Given the description of an element on the screen output the (x, y) to click on. 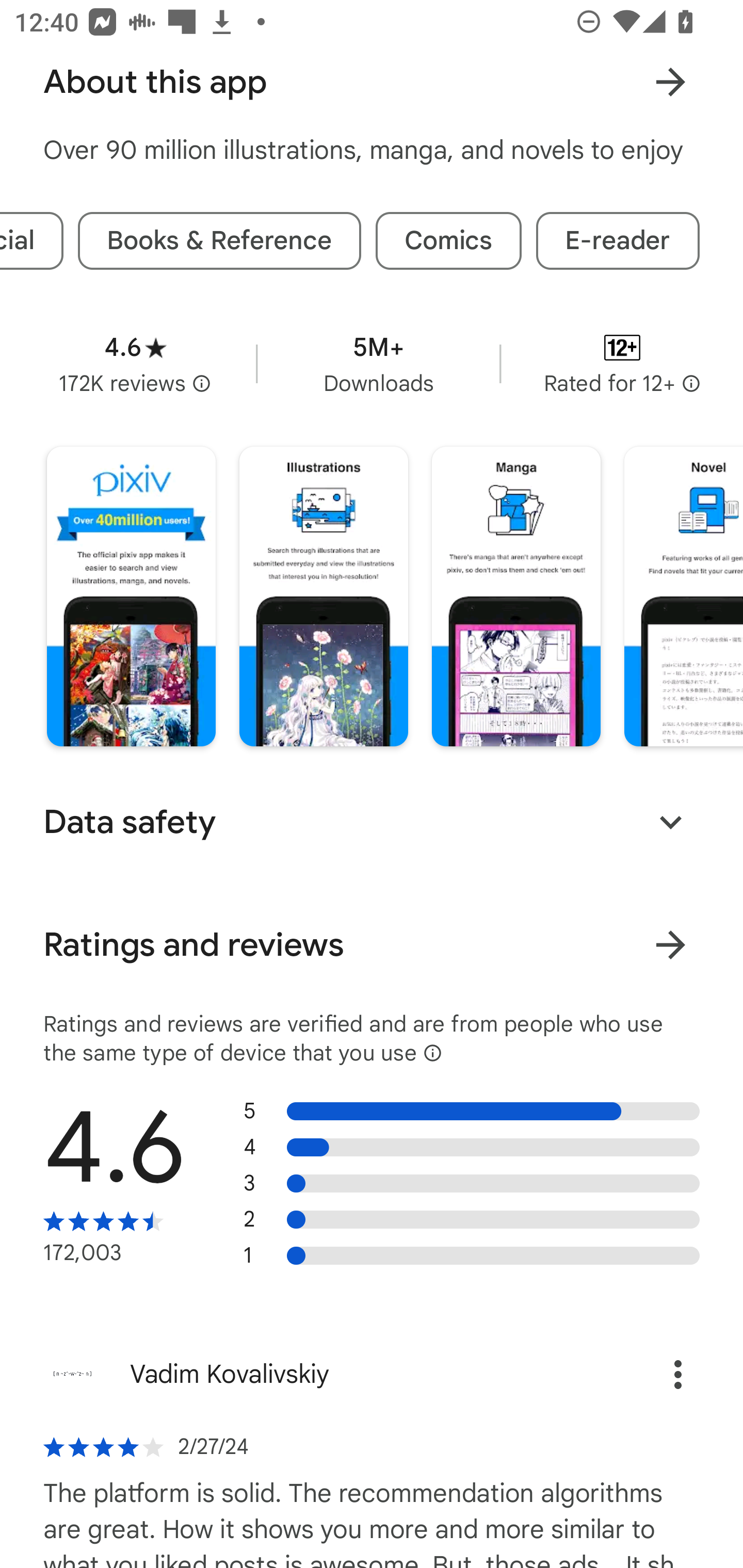
About this app Learn more About this app (371, 82)
Learn more About this app (670, 82)
Books & Reference tag (219, 240)
Comics tag (448, 240)
E-reader tag (617, 240)
Average rating 4.6 stars in 172 thousand reviews (135, 363)
Content rating Rated for 12+ (622, 363)
Screenshot "1" of "4" (130, 596)
Screenshot "2" of "4" (323, 596)
Screenshot "3" of "4" (515, 596)
Screenshot "4" of "4" (683, 596)
Data safety Expand (371, 822)
Expand (670, 822)
Ratings and reviews View all ratings and reviews (371, 944)
View all ratings and reviews (670, 944)
Options (655, 1374)
